Given the description of an element on the screen output the (x, y) to click on. 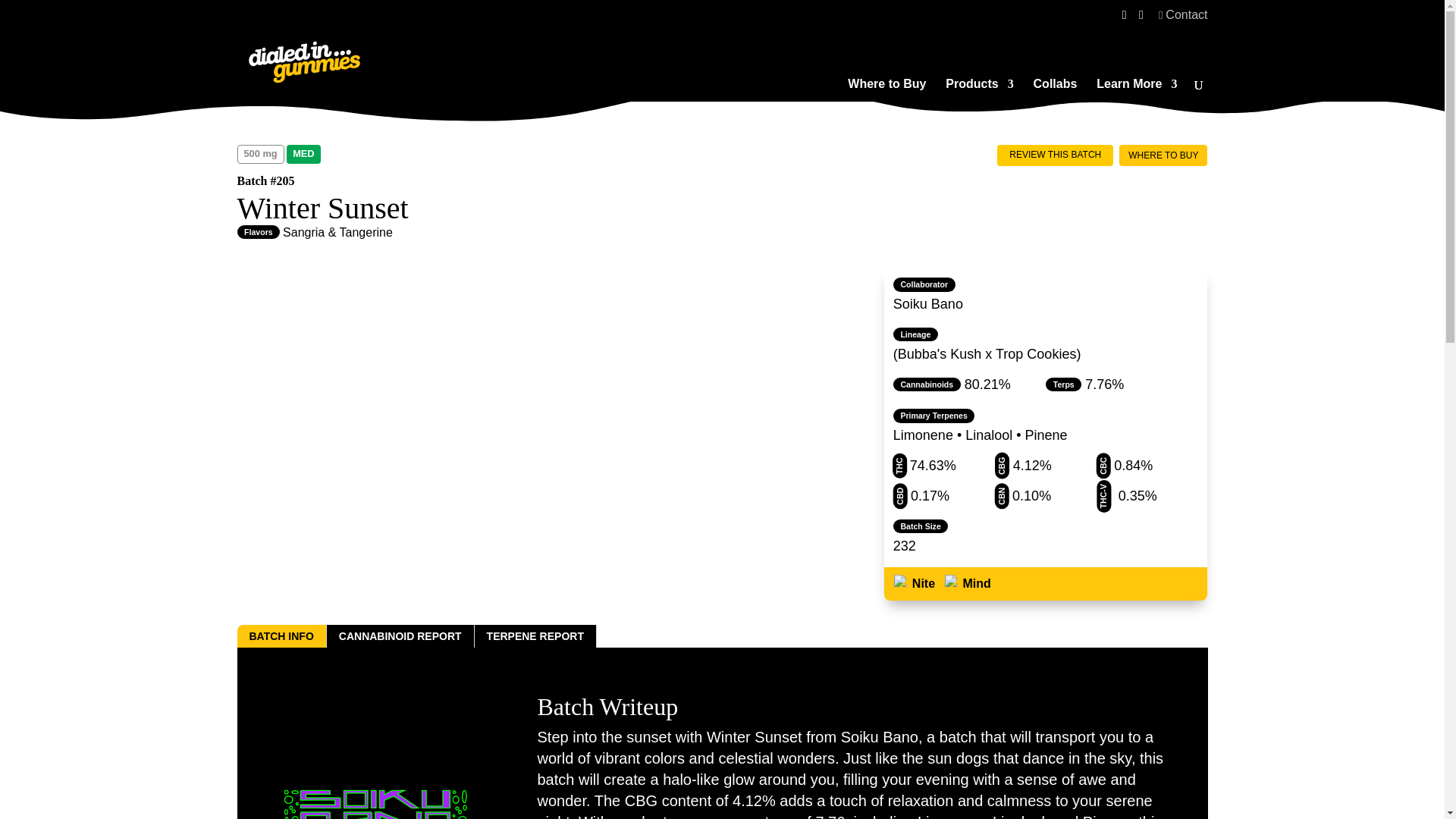
Products (978, 89)
Collabs (1055, 89)
CANNABINOID REPORT (400, 635)
Where to Buy (886, 89)
Limonene (923, 435)
Nite (913, 583)
BATCH INFO (279, 635)
TERPENE REPORT (534, 635)
Soiku Bano (927, 304)
Learn More (1136, 89)
Mind (967, 583)
Pinene (1046, 435)
Contact (1183, 19)
REVIEW THIS BATCH (1054, 154)
Linalool (988, 435)
